Given the description of an element on the screen output the (x, y) to click on. 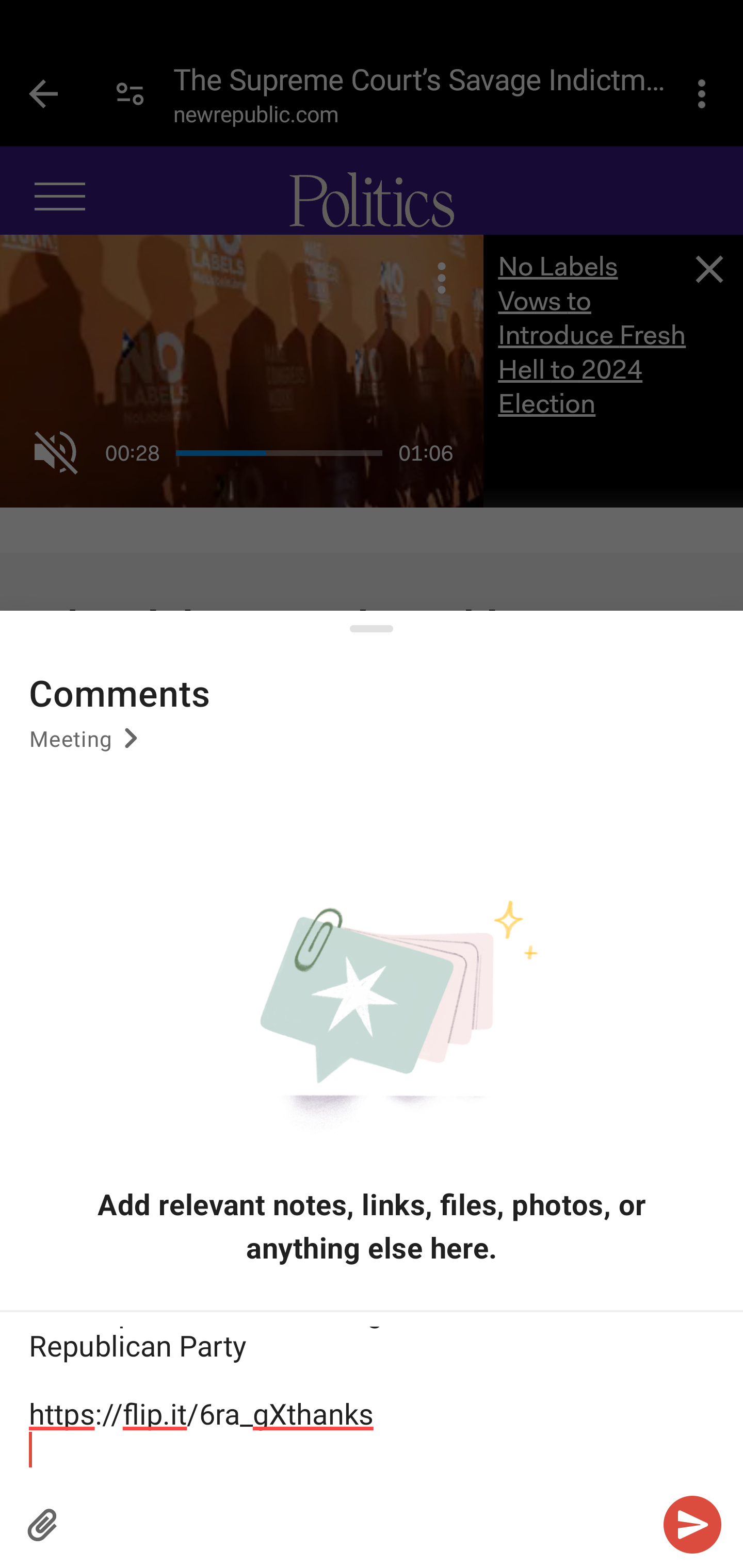
Meeting (86, 745)
Attachment (43, 1524)
Submit (692, 1524)
